Given the description of an element on the screen output the (x, y) to click on. 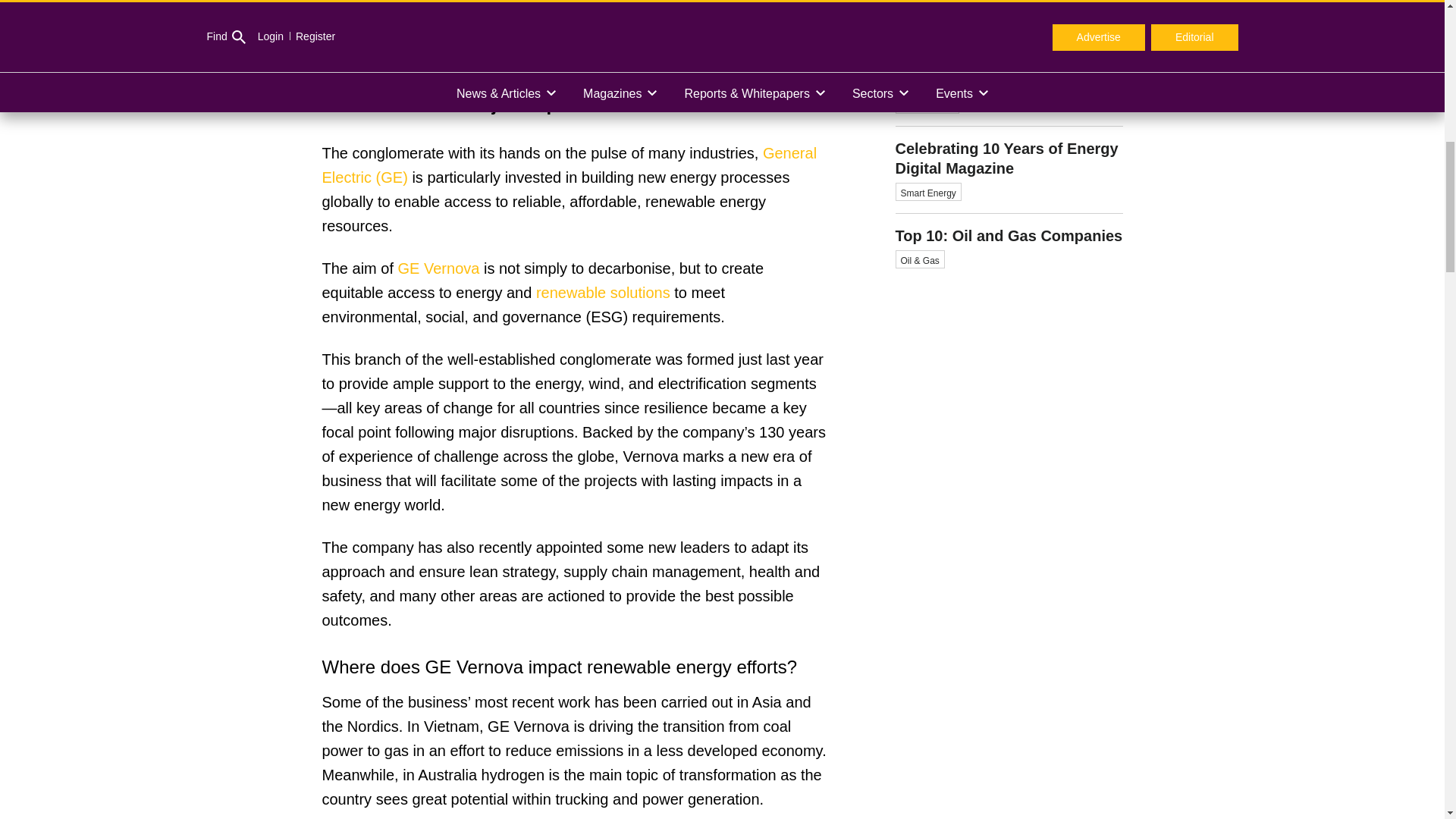
3rd party ad content (1008, 514)
